Given the description of an element on the screen output the (x, y) to click on. 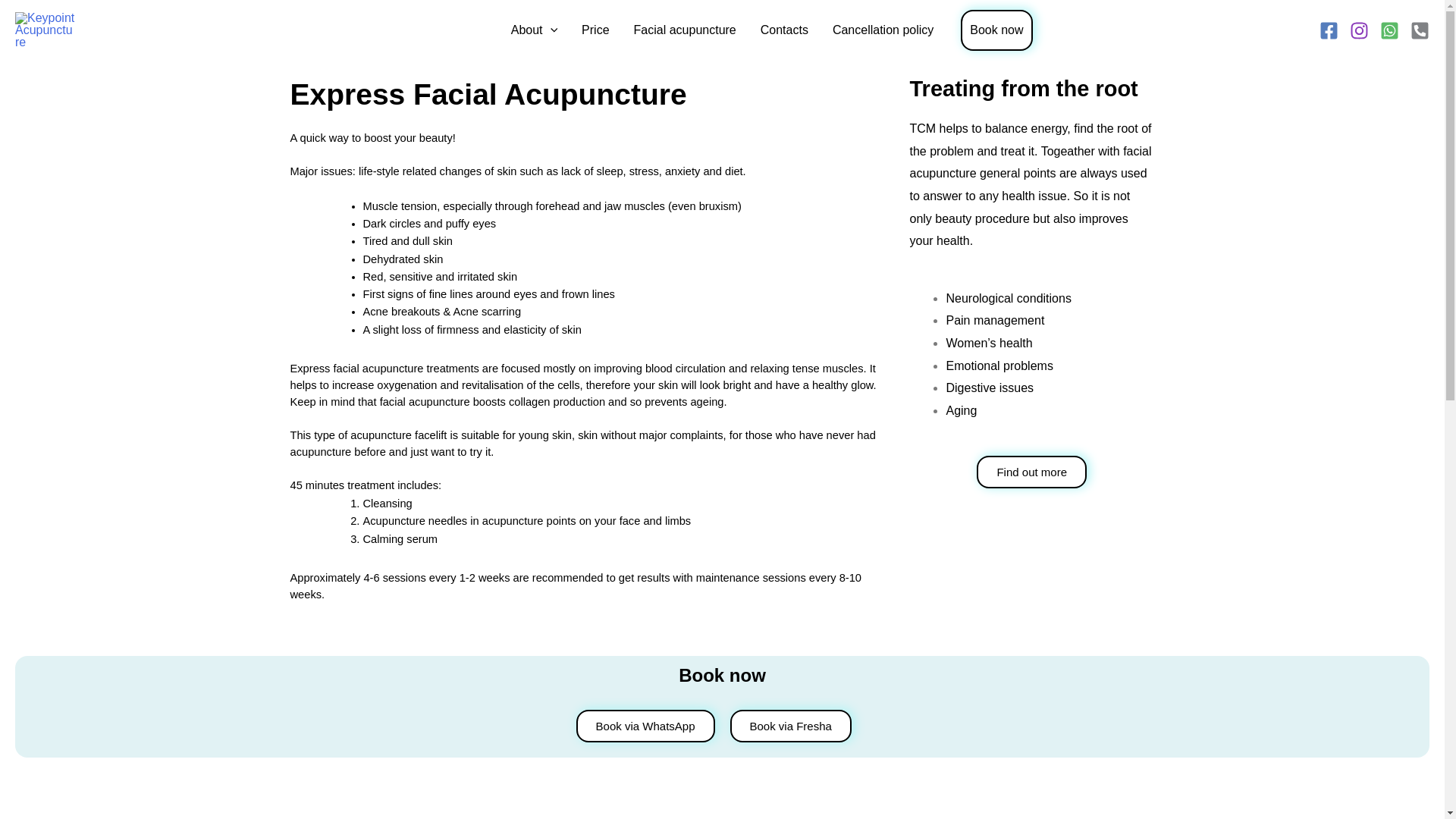
Book via WhatsApp (645, 726)
Facial acupuncture (684, 30)
Find out more (1031, 471)
Book via Fresha (789, 726)
Book now (996, 29)
About (534, 30)
Cancellation policy (882, 30)
Contacts (784, 30)
